Given the description of an element on the screen output the (x, y) to click on. 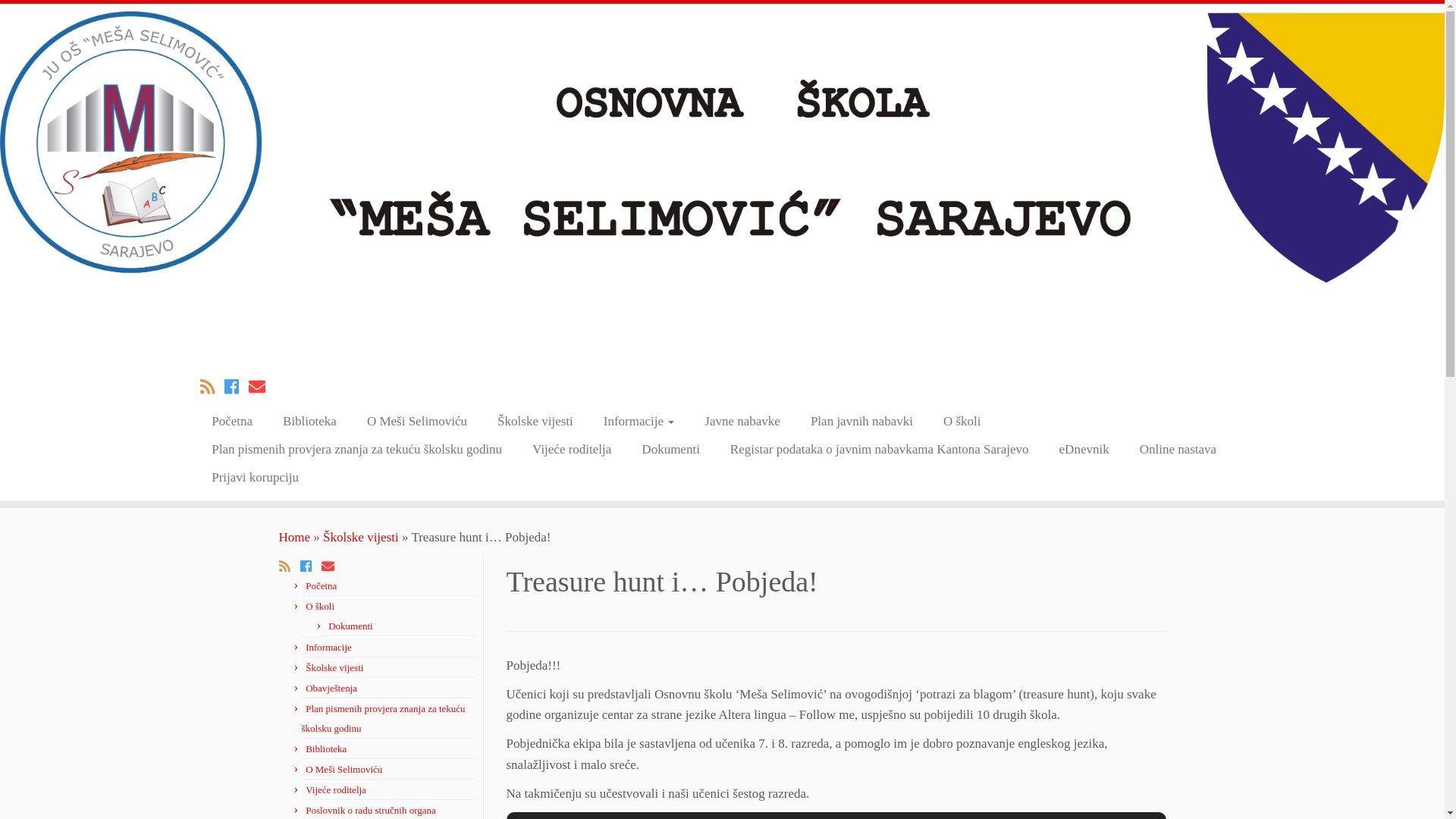
Dokumenti Element type: text (350, 625)
Subscribe to my rss feed Element type: hover (212, 386)
Subscribe to my rss feed Element type: hover (289, 566)
Informacije Element type: text (328, 646)
Home Element type: text (294, 537)
Kontaktirajte nas e-mailom Element type: hover (261, 386)
Biblioteka Element type: text (309, 421)
Dokumenti Element type: text (670, 449)
Javne nabavke Element type: text (742, 421)
Online nastava Element type: text (1178, 449)
Kontaktirajte nas e-mailom Element type: hover (332, 566)
Informacije Element type: text (639, 421)
Prijavi korupciju Element type: text (247, 477)
Follow us on Facebook Element type: hover (236, 386)
Plan javnih nabavki Element type: text (861, 421)
Biblioteka Element type: text (325, 748)
Registar podataka o javnim nabavkama Kantona Sarajevo Element type: text (879, 449)
eDnevnik Element type: text (1084, 449)
Follow us on Facebook Element type: hover (310, 566)
